Given the description of an element on the screen output the (x, y) to click on. 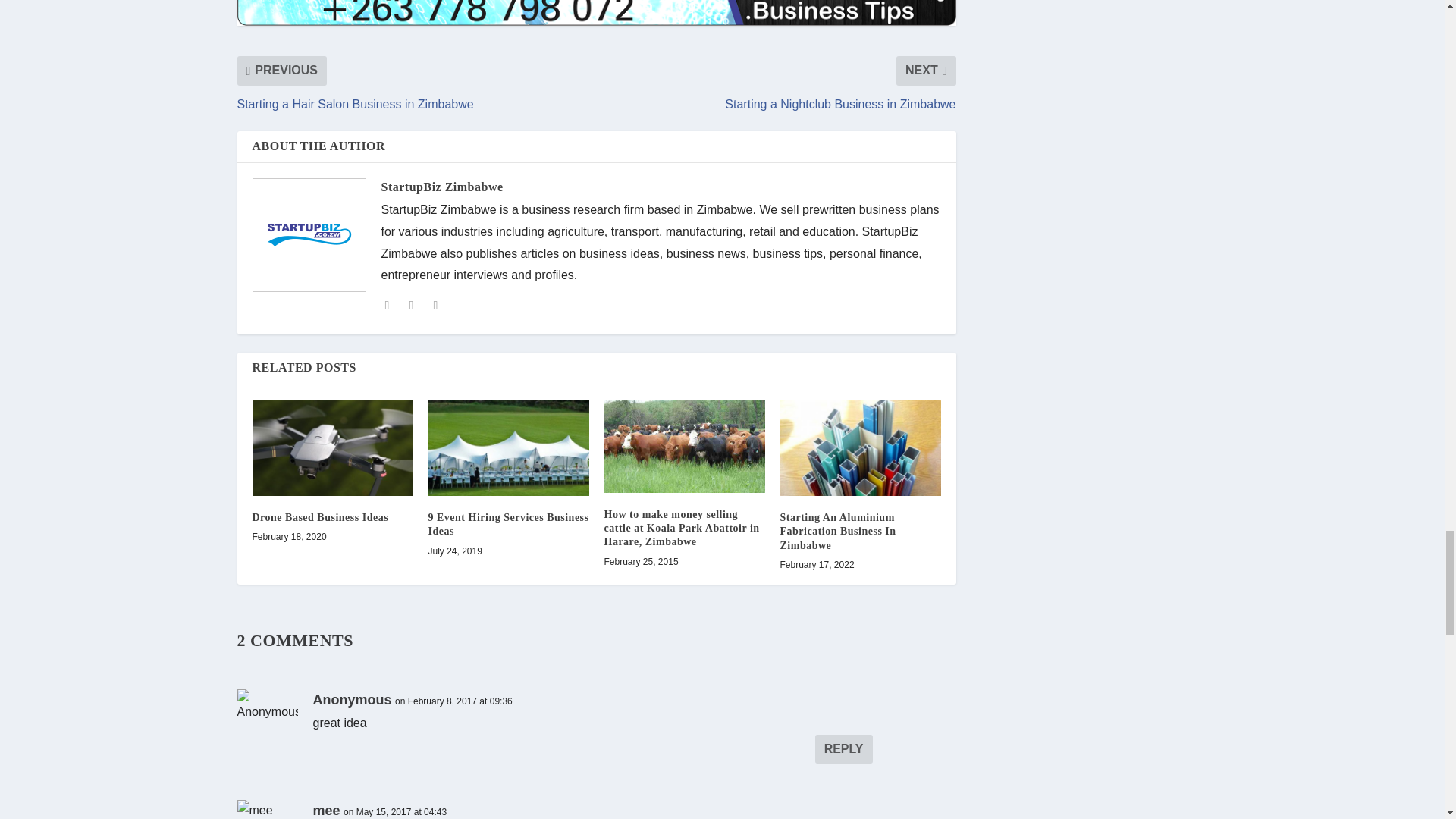
View all posts by StartupBiz Zimbabwe (441, 186)
